Given the description of an element on the screen output the (x, y) to click on. 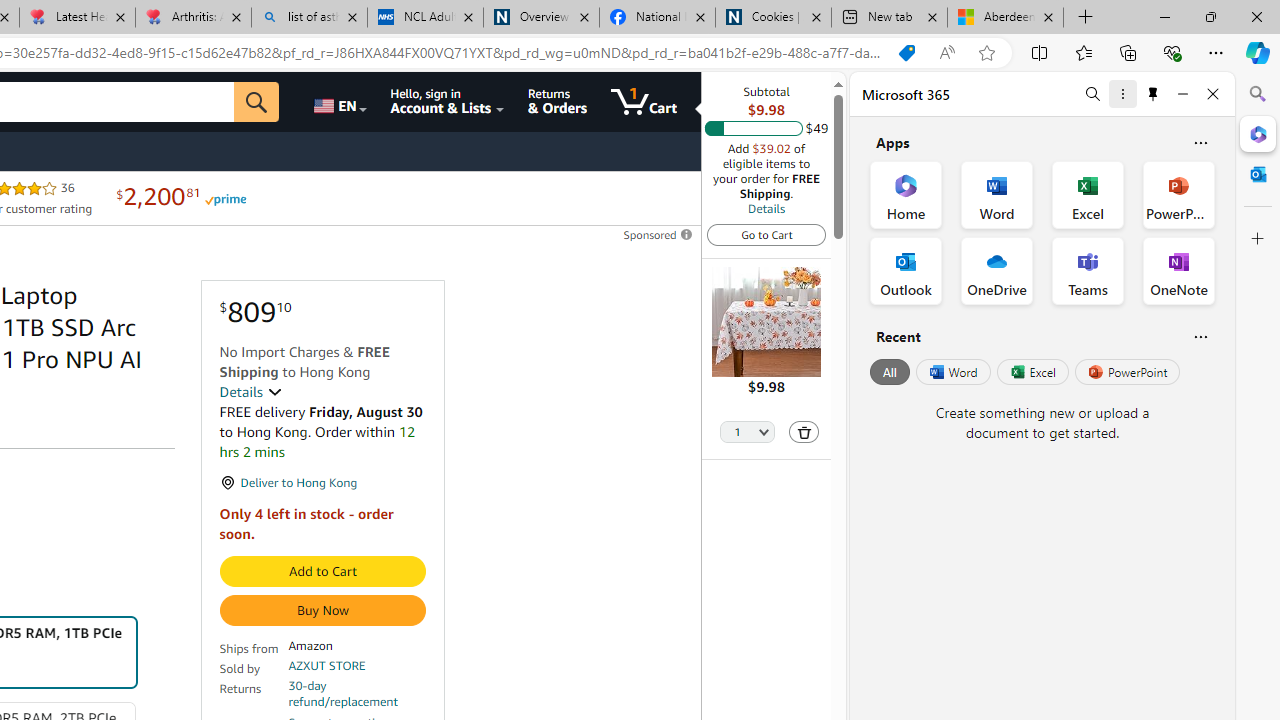
Excel Office App (1087, 194)
Home Office App (906, 194)
Add to Cart (322, 571)
Excel (1031, 372)
NCL Adult Asthma Inhaler Choice Guideline (424, 17)
Delete (803, 431)
Go (257, 101)
